Given the description of an element on the screen output the (x, y) to click on. 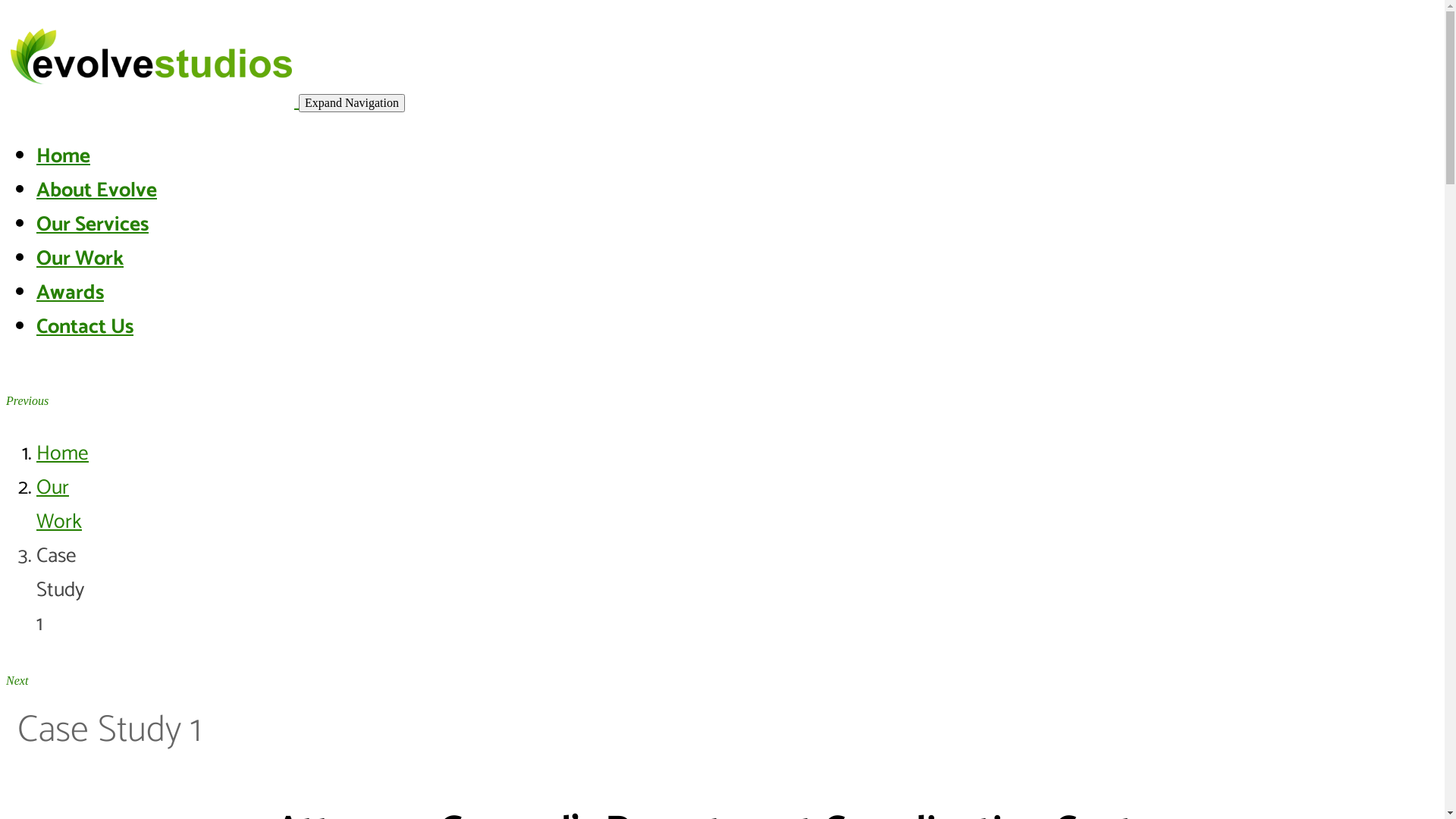
Awards Element type: text (69, 293)
Skip Navigation Element type: text (6, 15)
Previous Element type: text (27, 399)
Our Services Element type: text (92, 224)
Home Element type: text (63, 156)
Expand Navigation
Expand Navigation Element type: text (351, 103)
selected Element type: text (152, 101)
Next Element type: text (17, 679)
Contact Us Element type: text (84, 327)
Home Element type: text (62, 453)
Our Work Element type: text (79, 258)
Our Work Element type: text (58, 504)
About Evolve Element type: text (96, 190)
